Given the description of an element on the screen output the (x, y) to click on. 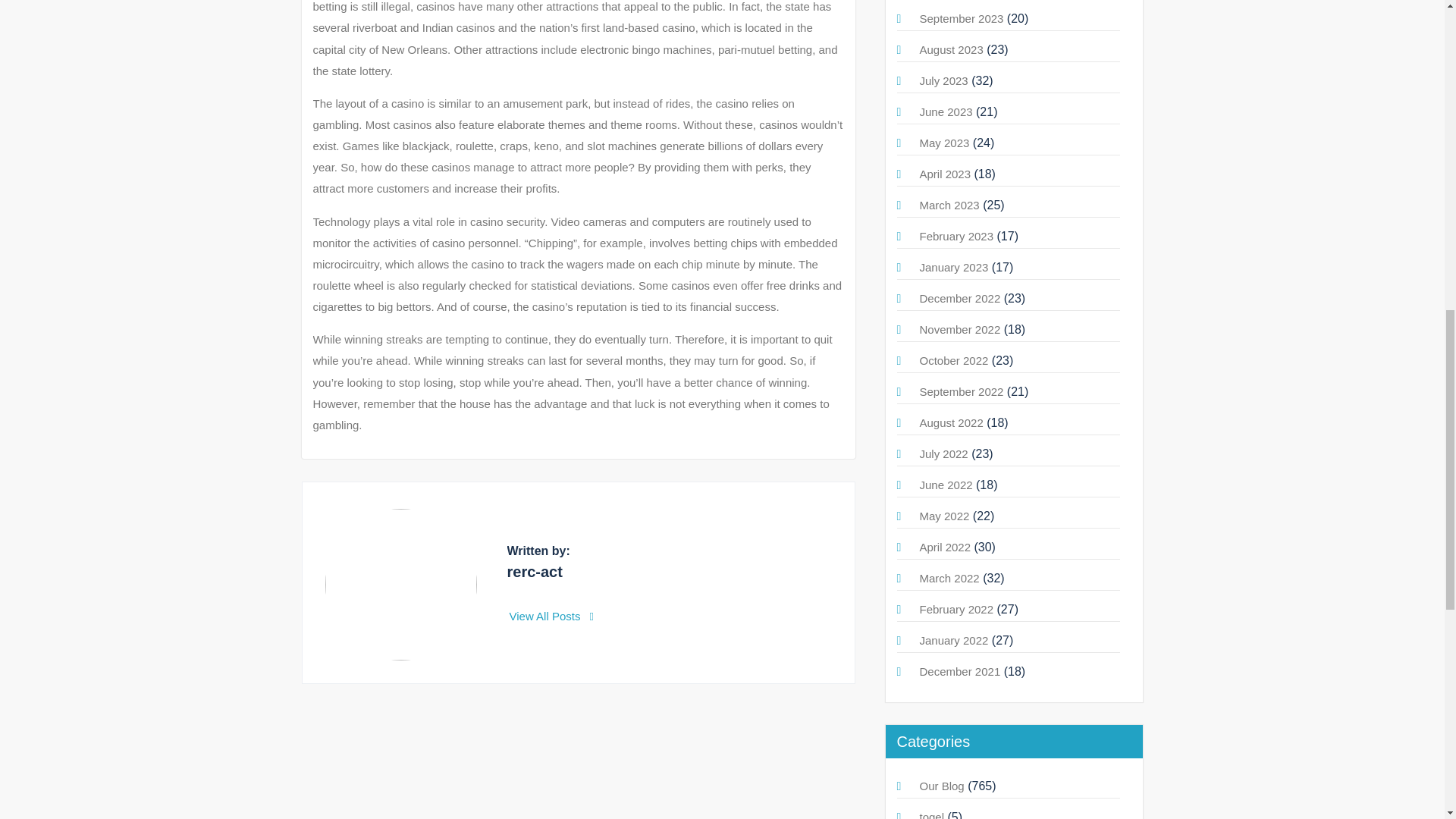
November 2022 (959, 328)
February 2023 (955, 236)
December 2022 (959, 297)
September 2022 (960, 391)
March 2023 (948, 205)
January 2023 (953, 267)
September 2023 (960, 18)
August 2022 (950, 422)
October 2022 (953, 359)
May 2022 (943, 515)
May 2023 (943, 142)
View All Posts (551, 615)
July 2022 (943, 453)
June 2023 (945, 111)
June 2022 (945, 484)
